Given the description of an element on the screen output the (x, y) to click on. 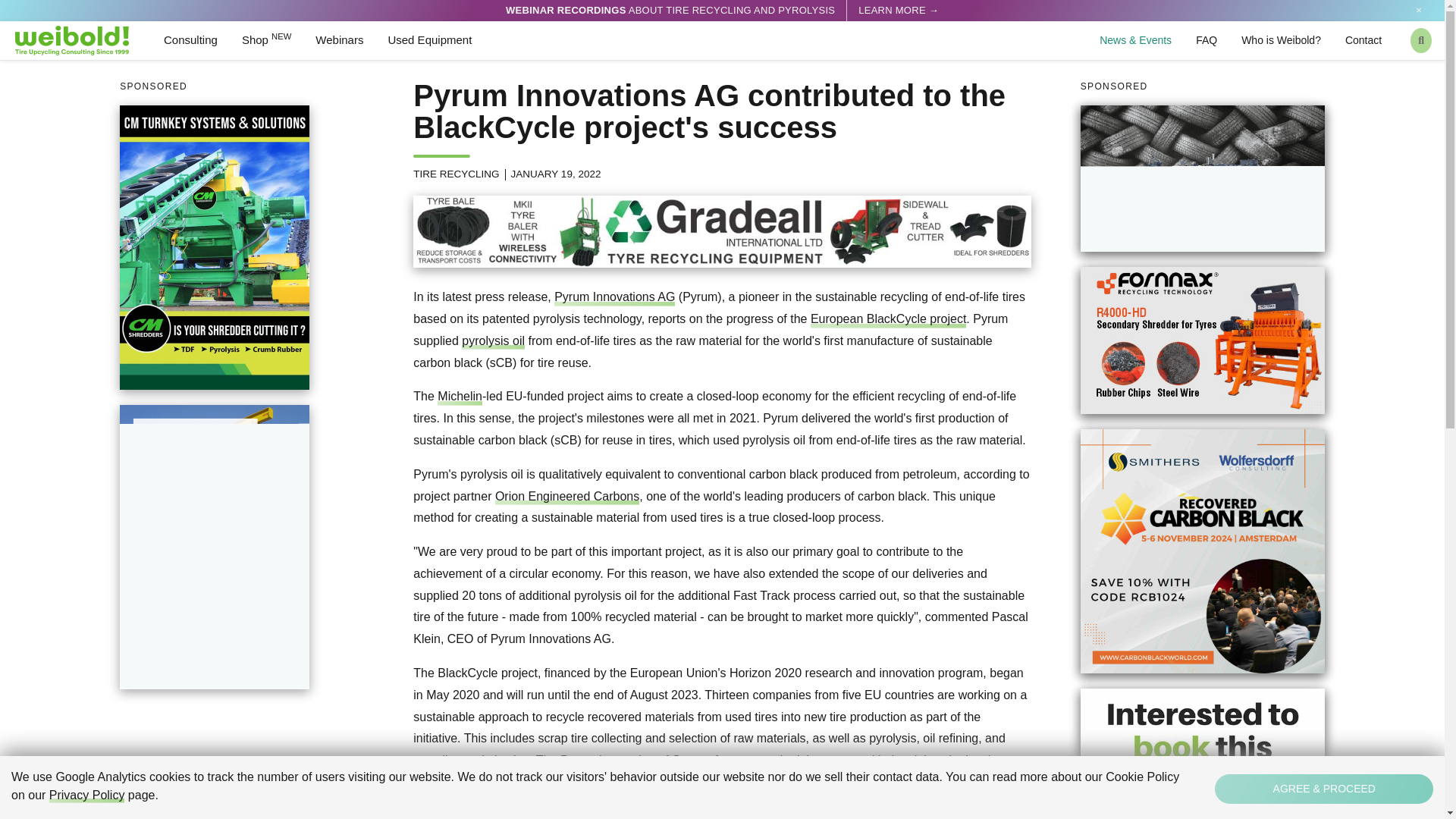
Consulting (190, 40)
Shop NEW (266, 40)
Webinars (338, 40)
Used Equipment (429, 40)
